Given the description of an element on the screen output the (x, y) to click on. 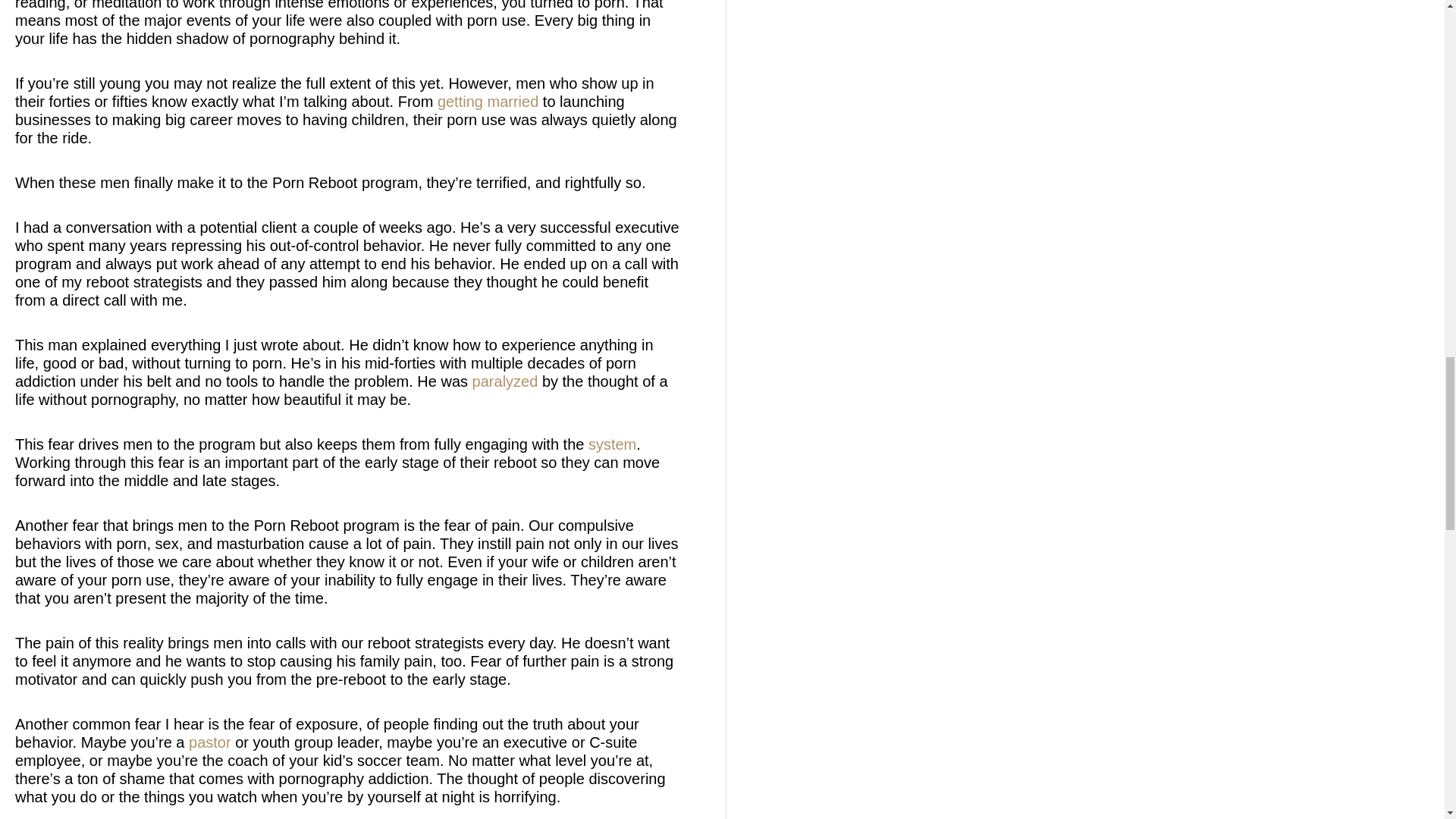
getting married (488, 101)
paralyzed (504, 381)
pastor (210, 742)
system (612, 443)
